Given the description of an element on the screen output the (x, y) to click on. 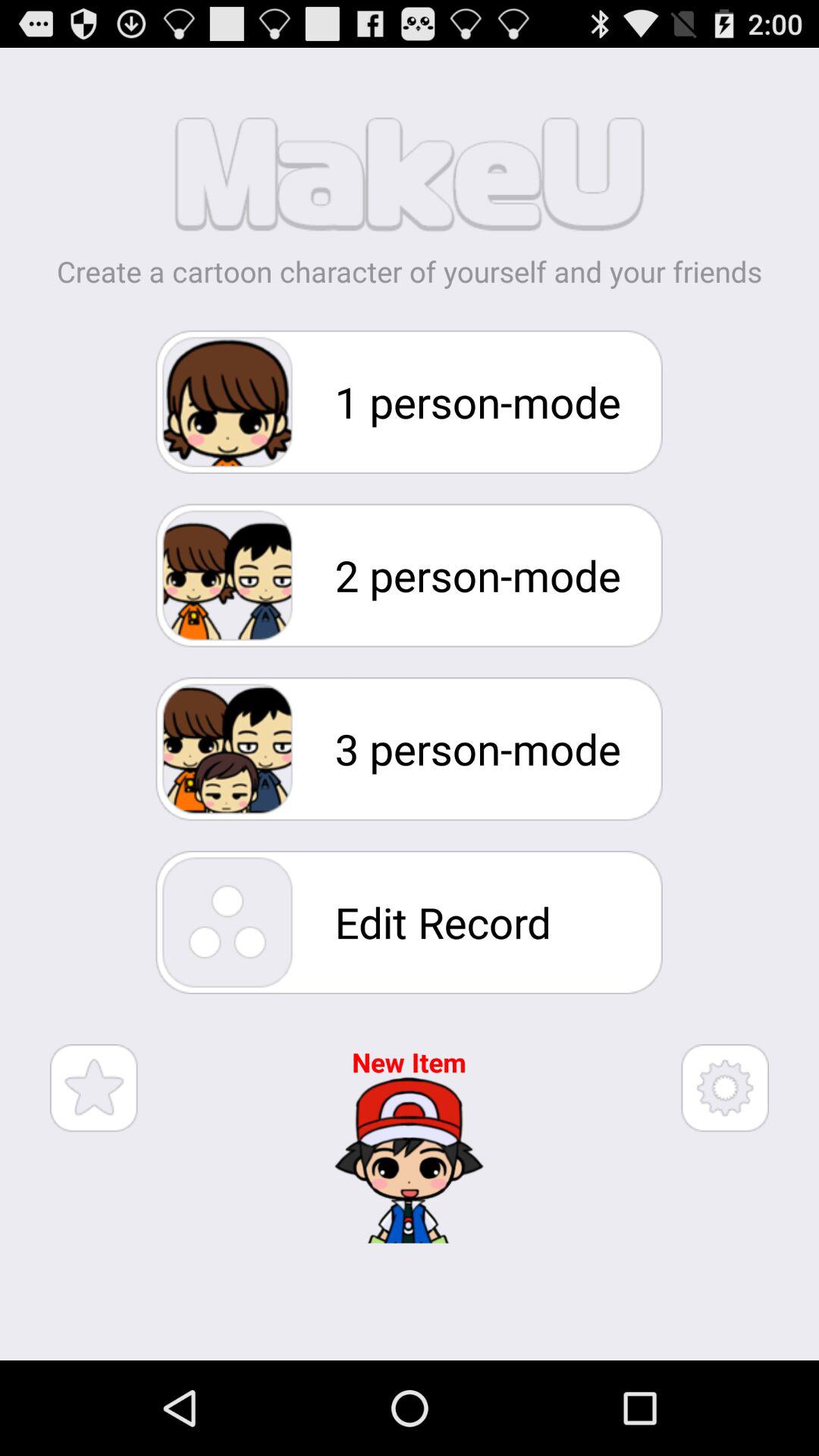
star rating option (93, 1087)
